Given the description of an element on the screen output the (x, y) to click on. 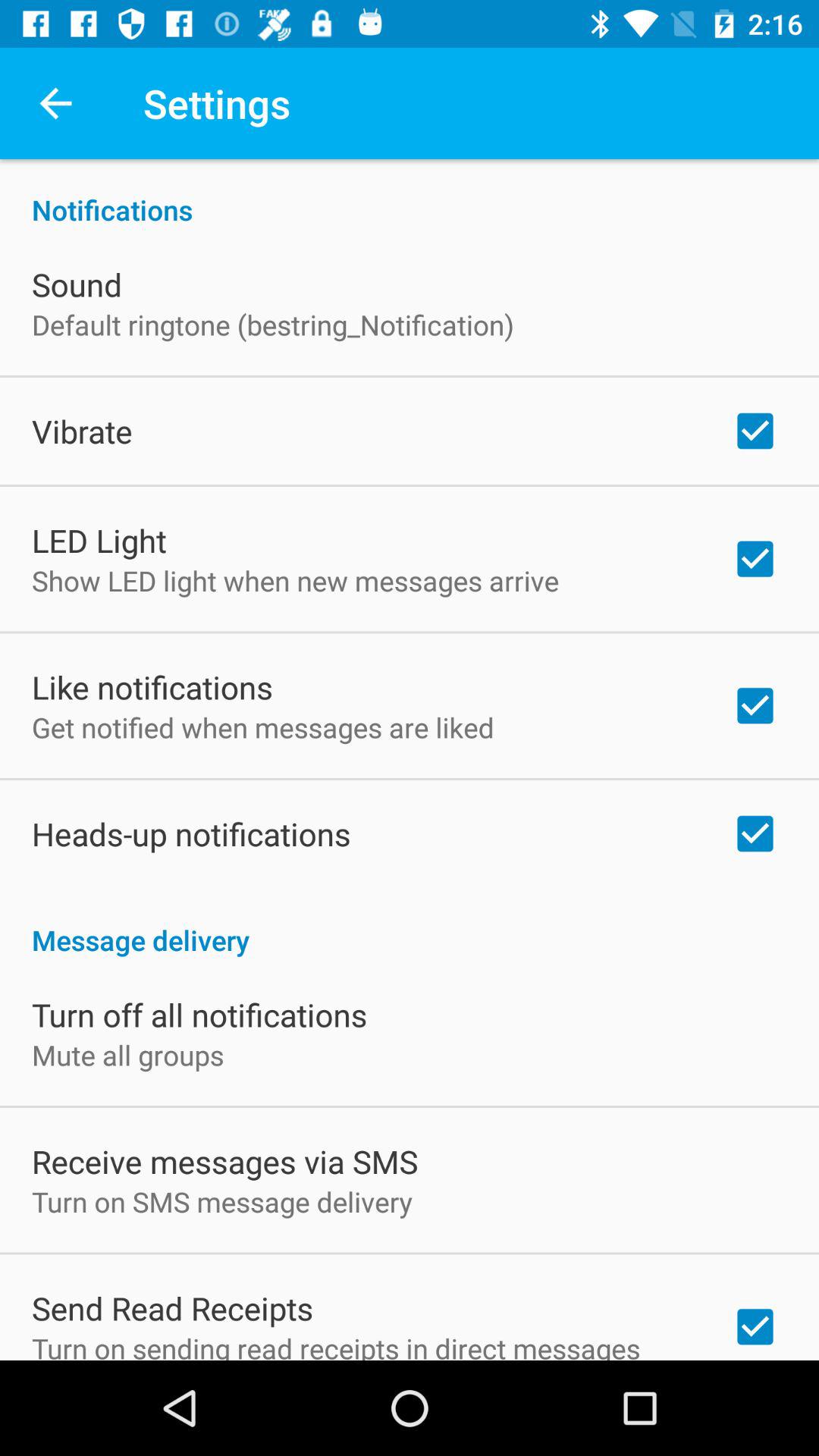
open item below the show led light icon (152, 686)
